Given the description of an element on the screen output the (x, y) to click on. 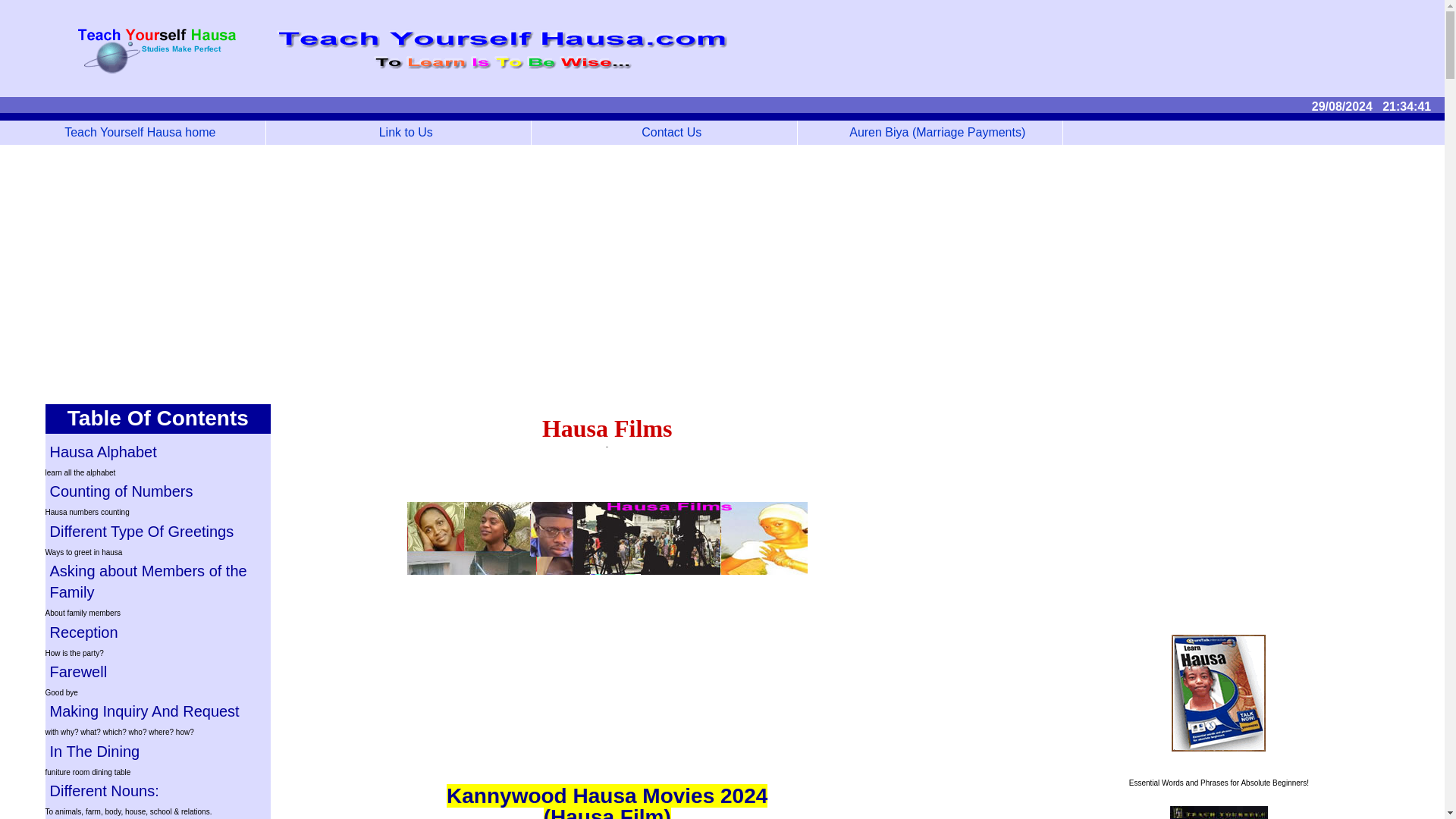
Asking about Members of the Family (157, 581)
Asking about Members of the Family. (157, 581)
Auren Biya (930, 132)
Farewell (157, 671)
Different Nouns: (157, 790)
Contact Us (664, 132)
Reception (157, 631)
Reception (157, 631)
Different Type Of Greetings. (157, 531)
